Given the description of an element on the screen output the (x, y) to click on. 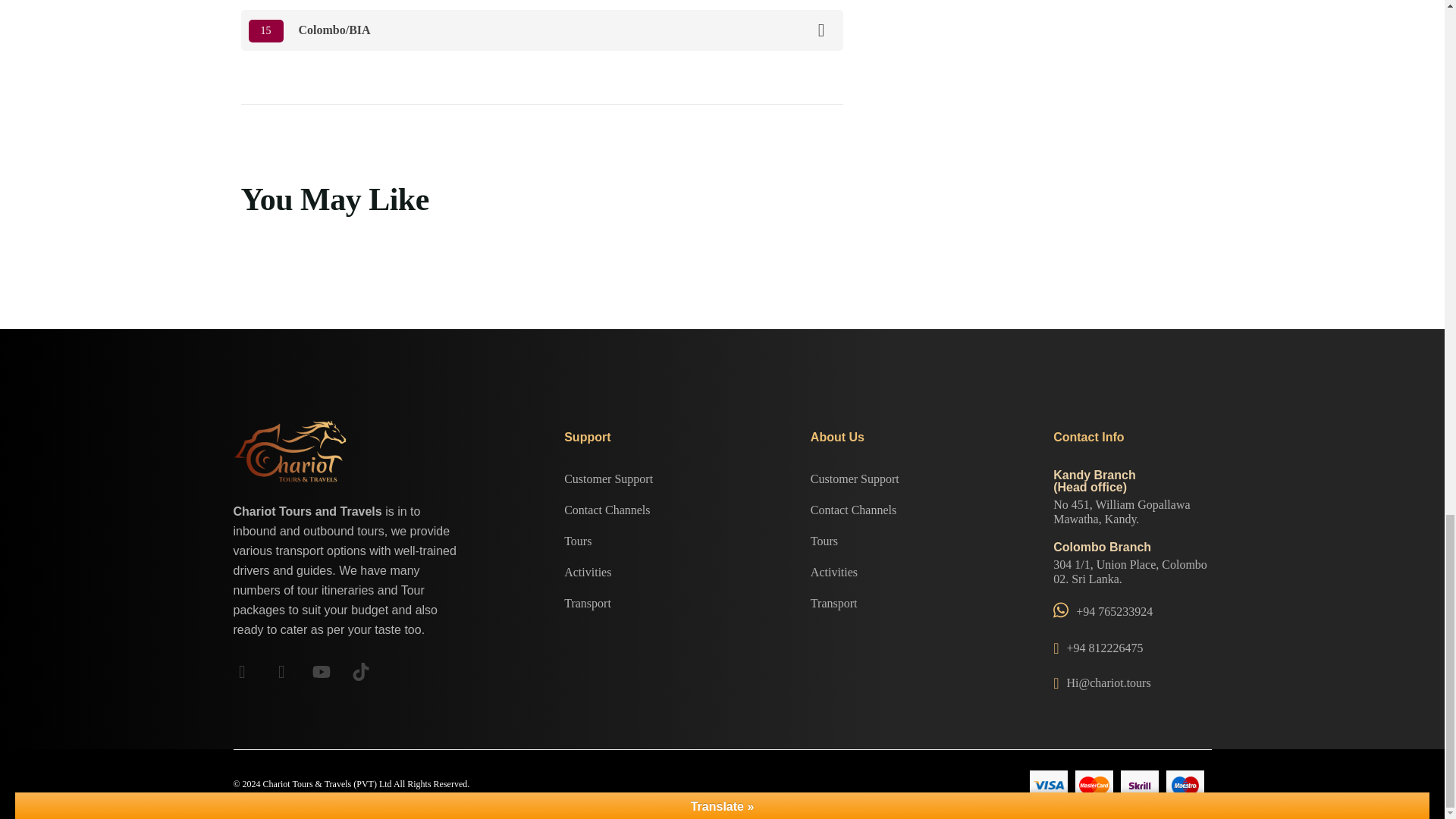
visa (1048, 784)
mastercard (1093, 785)
